Given the description of an element on the screen output the (x, y) to click on. 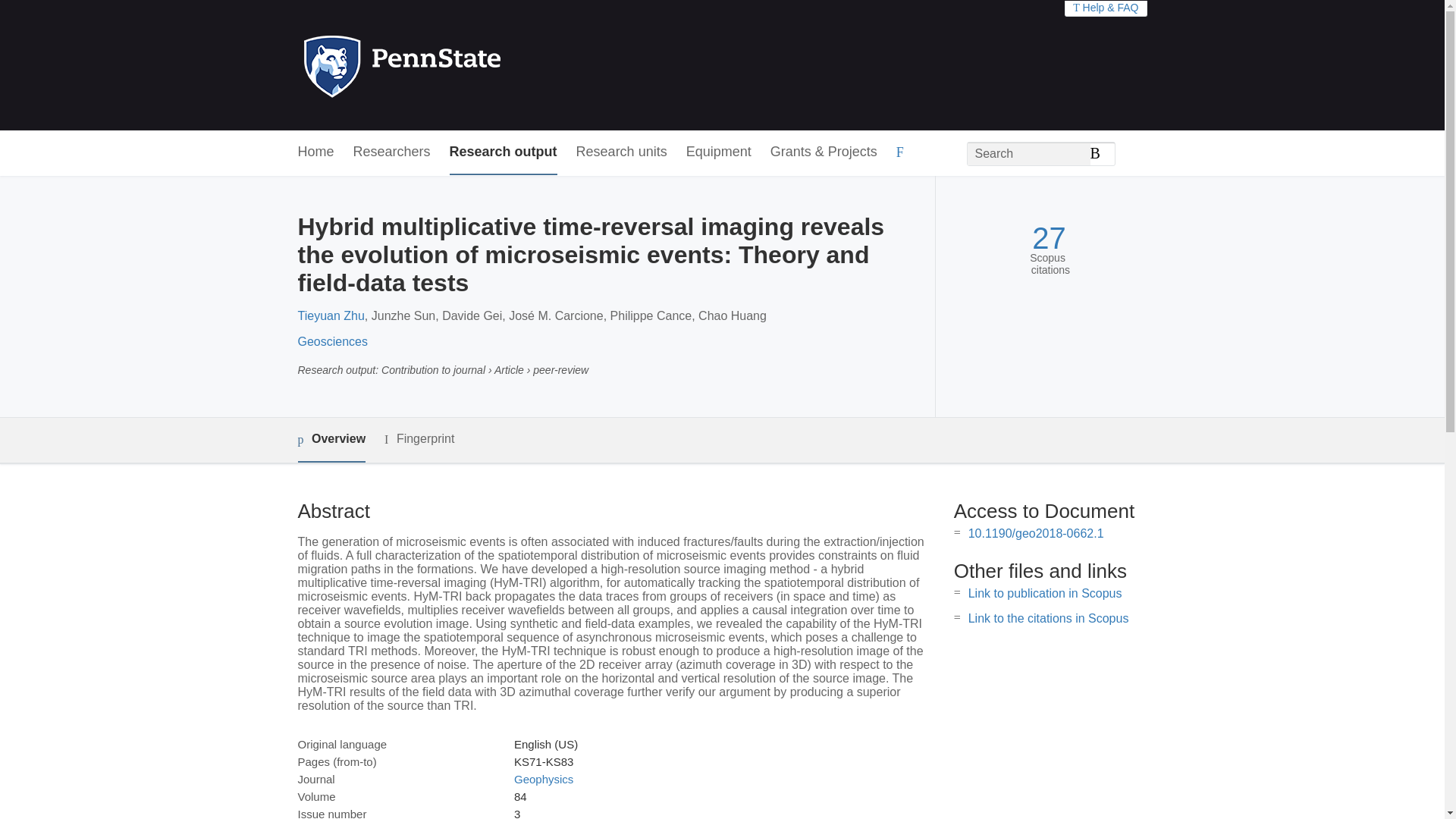
Link to the citations in Scopus (1048, 617)
Fingerprint (419, 439)
Equipment (718, 152)
Link to publication in Scopus (1045, 593)
Penn State Home (467, 65)
Researchers (391, 152)
Research units (621, 152)
Tieyuan Zhu (330, 315)
Research output (503, 152)
Geophysics (543, 779)
27 (1048, 238)
Geosciences (332, 341)
Overview (331, 439)
